Given the description of an element on the screen output the (x, y) to click on. 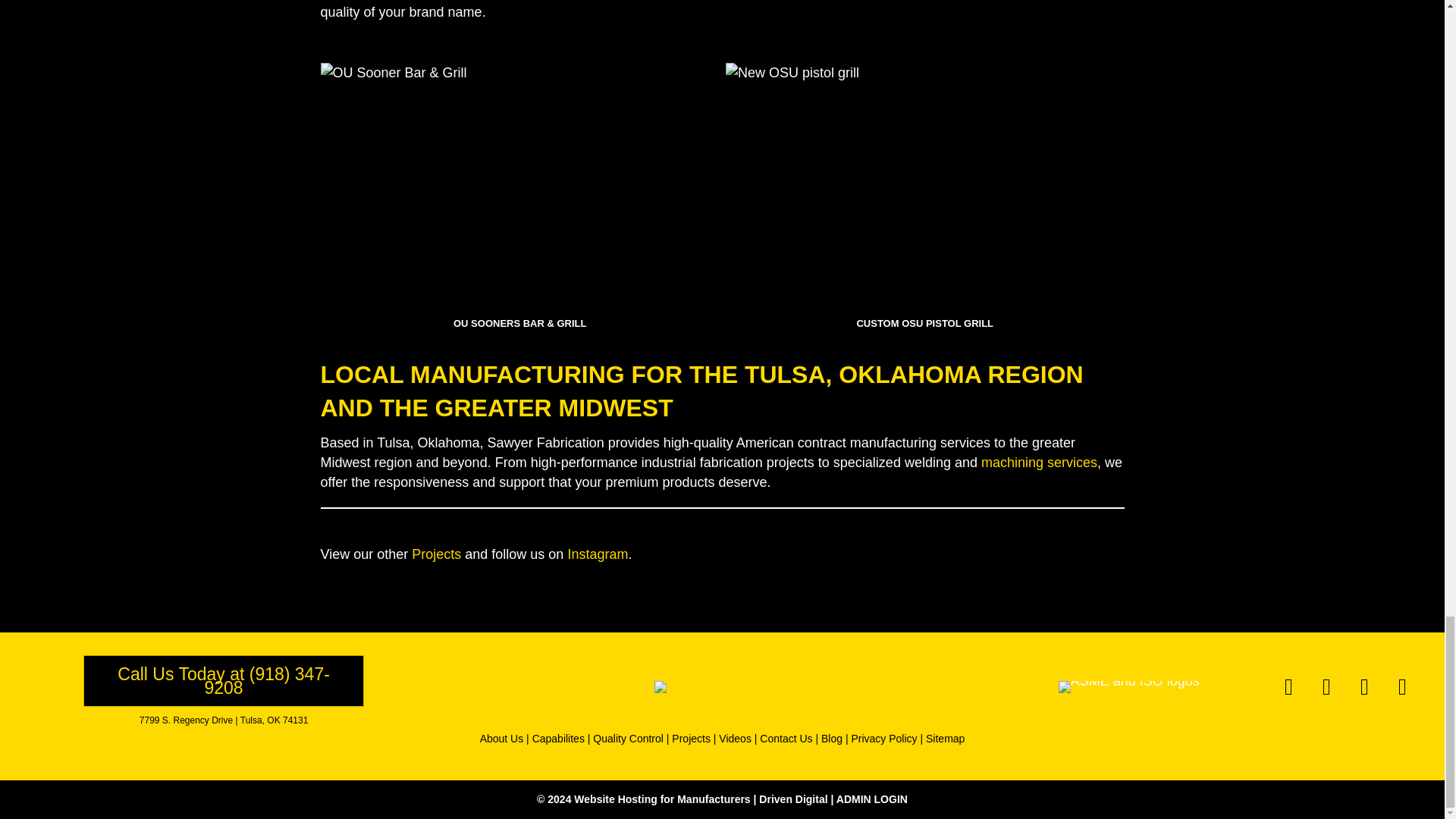
About Us (502, 738)
Instagram (597, 554)
Capabilites (558, 738)
Sitemap (944, 738)
Privacy Policy (883, 738)
Videos (735, 738)
Contact Us (786, 738)
ADMIN LOGIN (871, 799)
Projects (690, 738)
machining services (1039, 462)
